Given the description of an element on the screen output the (x, y) to click on. 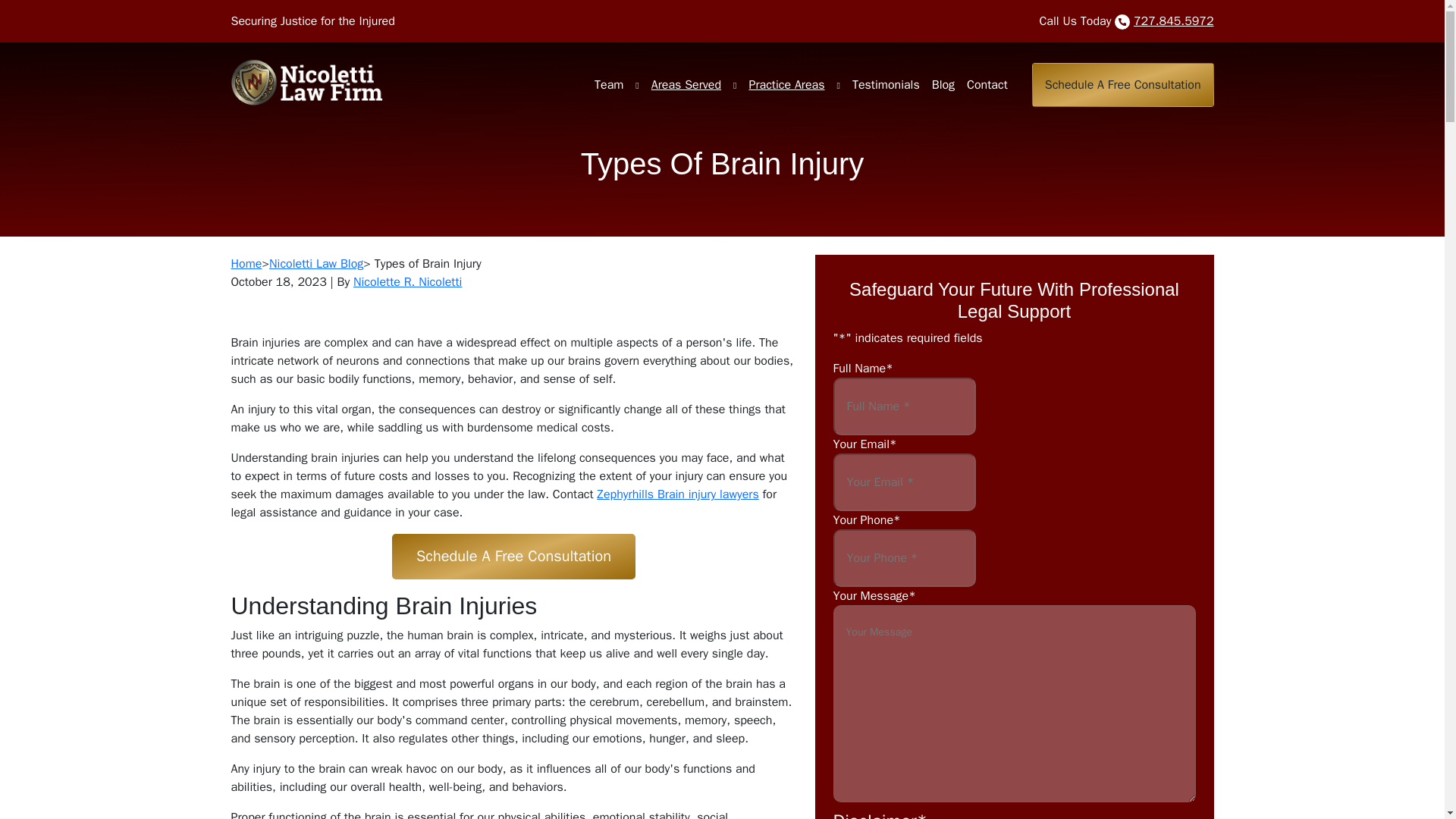
Team (608, 84)
Home (246, 263)
Contact (986, 84)
Nicoletti Law Blog (315, 263)
Schedule A Free Consultation (1123, 85)
Testimonials (885, 84)
Practice Areas (785, 84)
Nicolette R. Nicoletti (407, 281)
Team (608, 84)
Areas Served (685, 84)
